Given the description of an element on the screen output the (x, y) to click on. 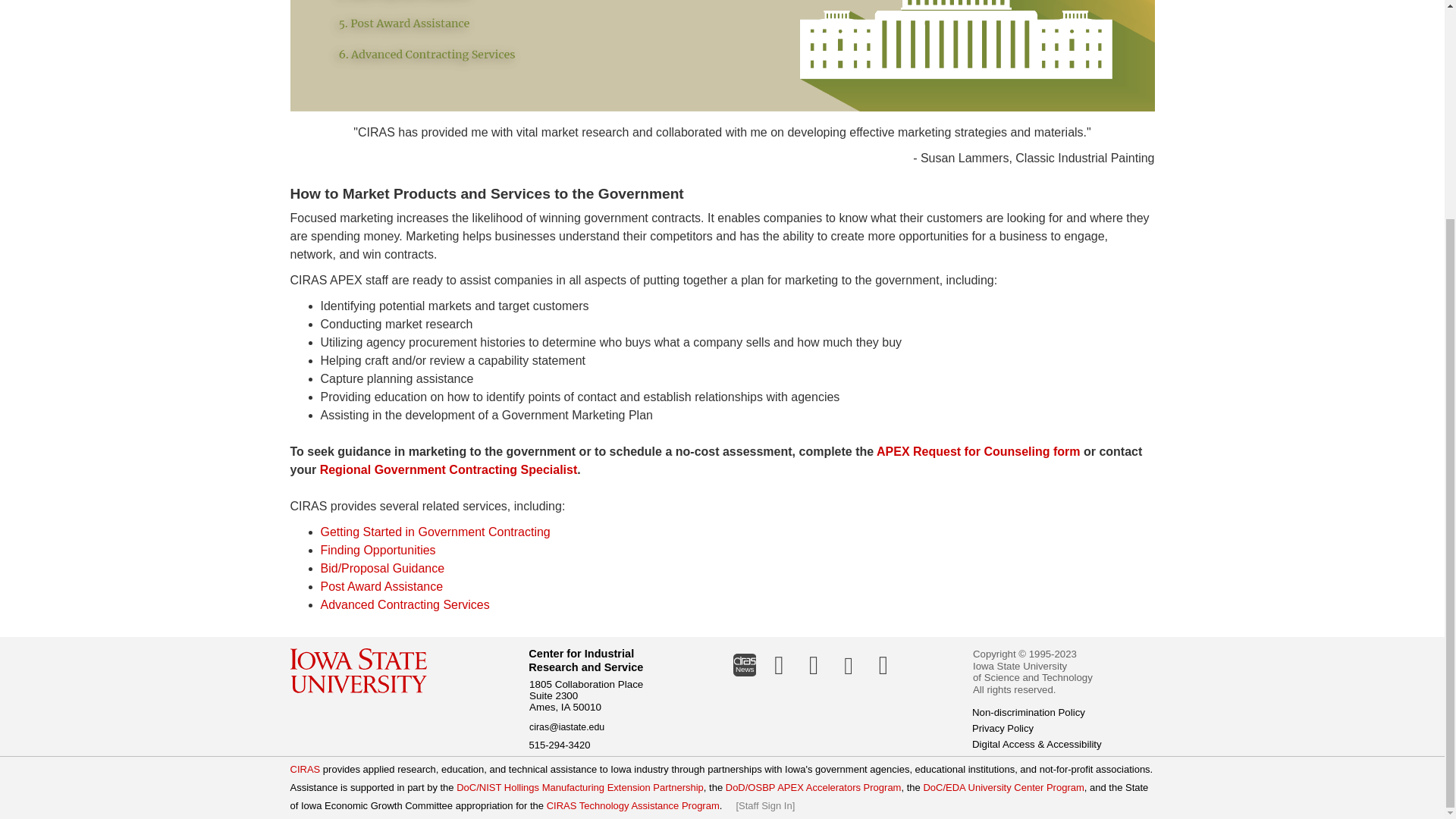
Twitter (813, 664)
Podcast (848, 664)
LinkedIn (778, 664)
Advanced Contracting Services (427, 54)
CIRAS News (744, 664)
Post Award Assistance (405, 24)
YouTube (883, 664)
